Given the description of an element on the screen output the (x, y) to click on. 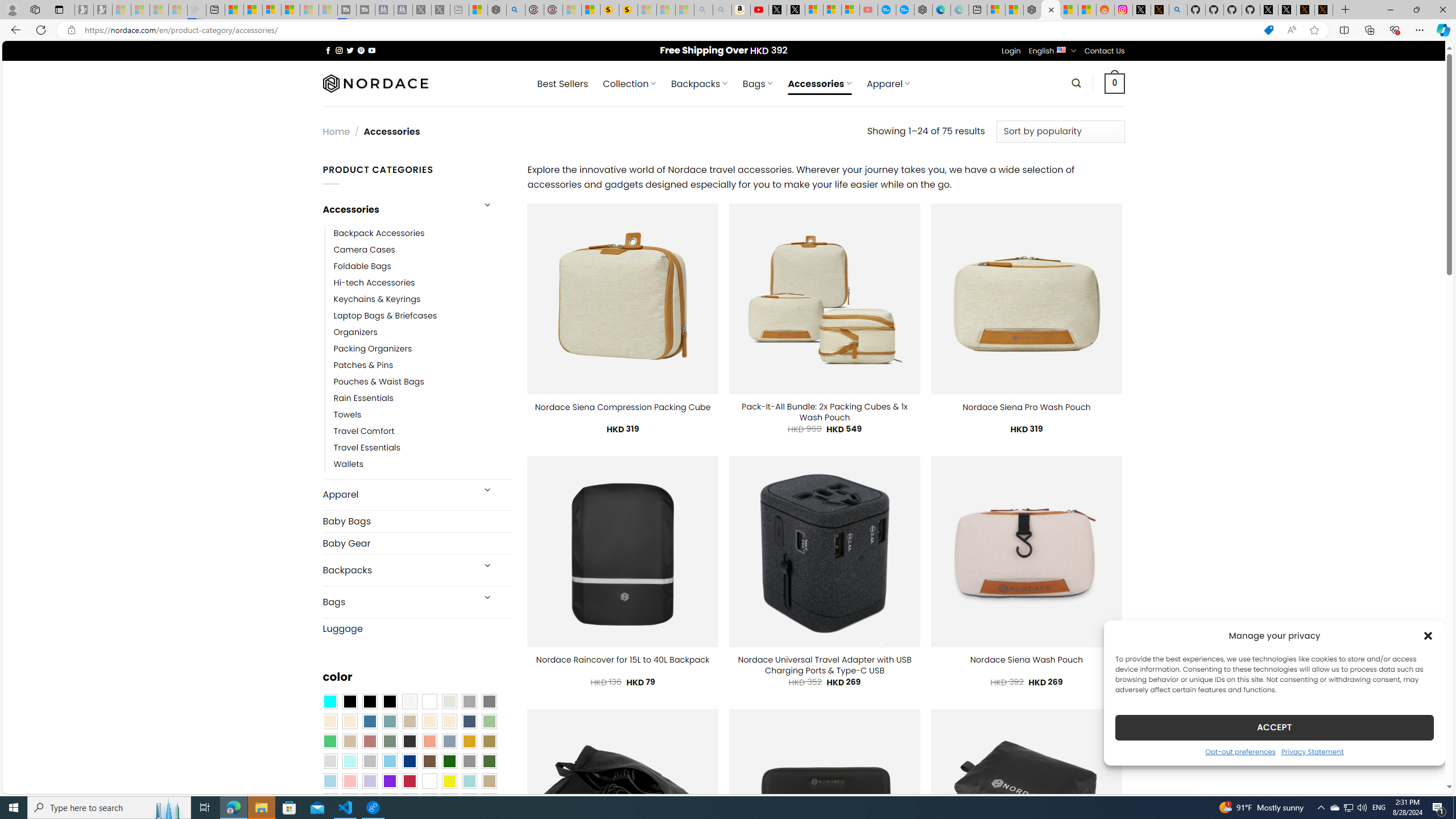
Streaming Coverage | T3 - Sleeping (347, 9)
 Best Sellers (562, 83)
Foldable Bags (422, 265)
Nordace Raincover for 15L to 40L Backpack (622, 659)
Rain Essentials (363, 398)
Light Gray (329, 761)
Backpack Accessories (379, 232)
Shanghai, China Weather trends | Microsoft Weather (1086, 9)
X Privacy Policy (1324, 9)
Wallets (348, 464)
Follow on YouTube (371, 49)
